Given the description of an element on the screen output the (x, y) to click on. 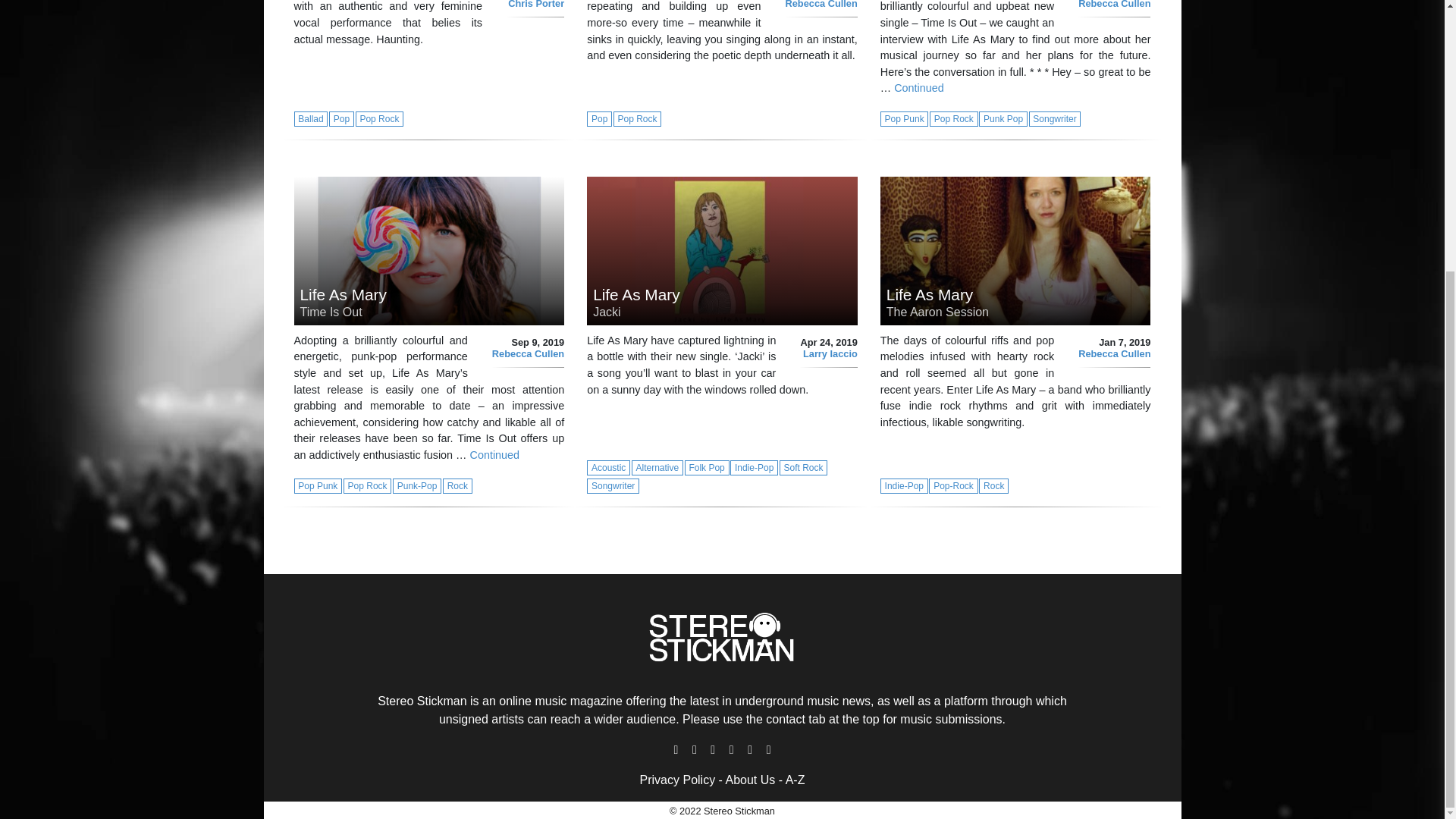
Pop Punk (318, 484)
Pop Punk (905, 117)
Rebecca Cullen (821, 4)
Pop Rock (379, 117)
Pop Rock (368, 484)
Rebecca Cullen (528, 353)
Continued (493, 454)
Chris Porter (536, 4)
Continued (918, 87)
Songwriter (1054, 117)
